Given the description of an element on the screen output the (x, y) to click on. 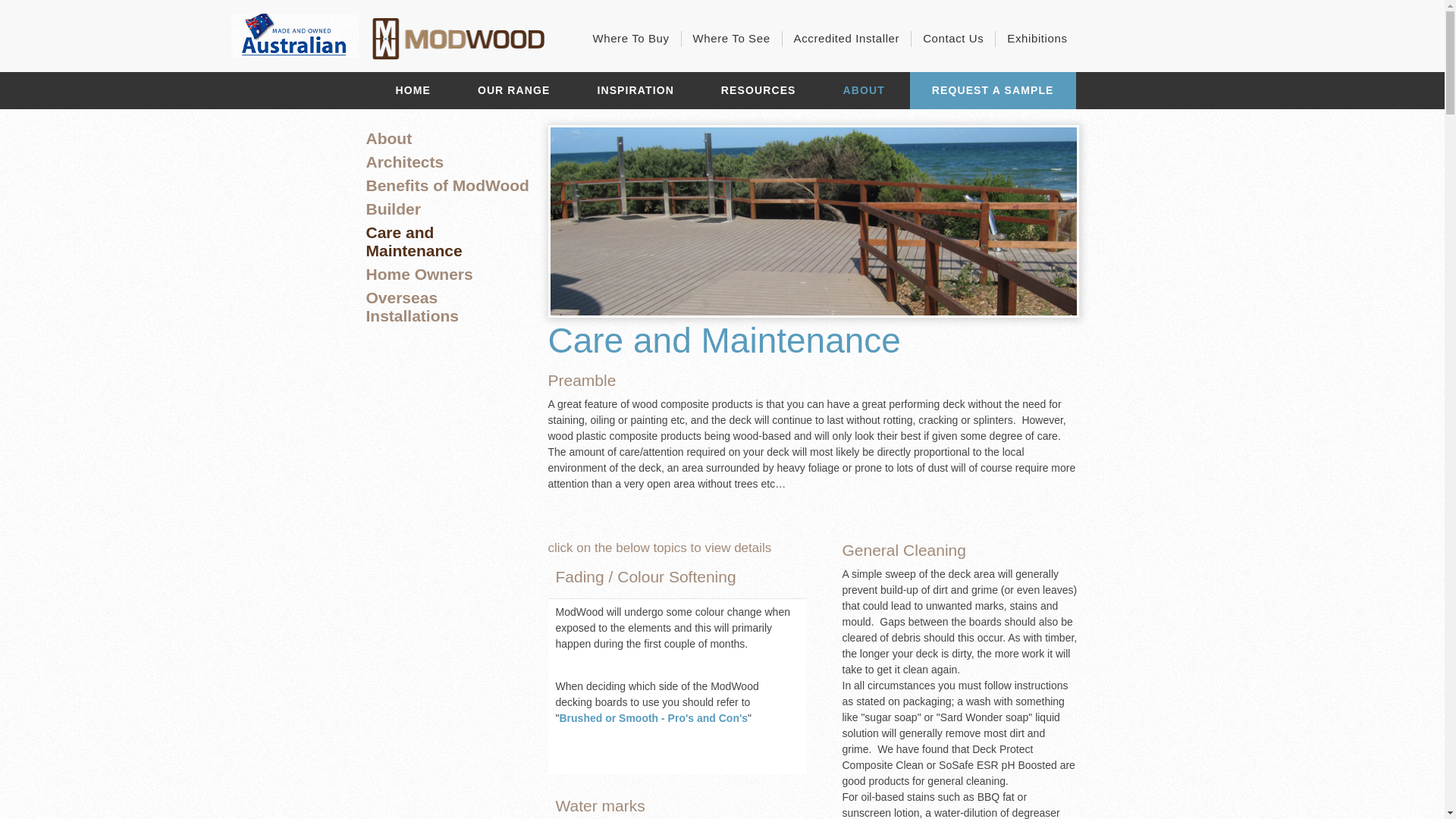
Brushed or Smooth - Pro's and Con's Element type: text (652, 718)
REQUEST A SAMPLE Element type: text (993, 90)
Home Owners Element type: text (418, 273)
About Element type: text (388, 138)
Care and Maintenance Element type: text (413, 241)
Accredited Installer Element type: text (846, 38)
HOME Element type: text (412, 90)
INSPIRATION Element type: text (635, 90)
Builder Element type: text (392, 208)
Overseas Installations Element type: text (411, 306)
Where To See Element type: text (731, 38)
Benefits of ModWood Element type: text (446, 185)
OUR RANGE Element type: text (513, 90)
Exhibitions Element type: text (1036, 38)
Architects Element type: text (404, 161)
Where To Buy Element type: text (630, 38)
Modwood Element type: text (460, 38)
RESOURCES Element type: text (758, 90)
Contact Us Element type: text (952, 38)
ABOUT Element type: text (863, 90)
